Given the description of an element on the screen output the (x, y) to click on. 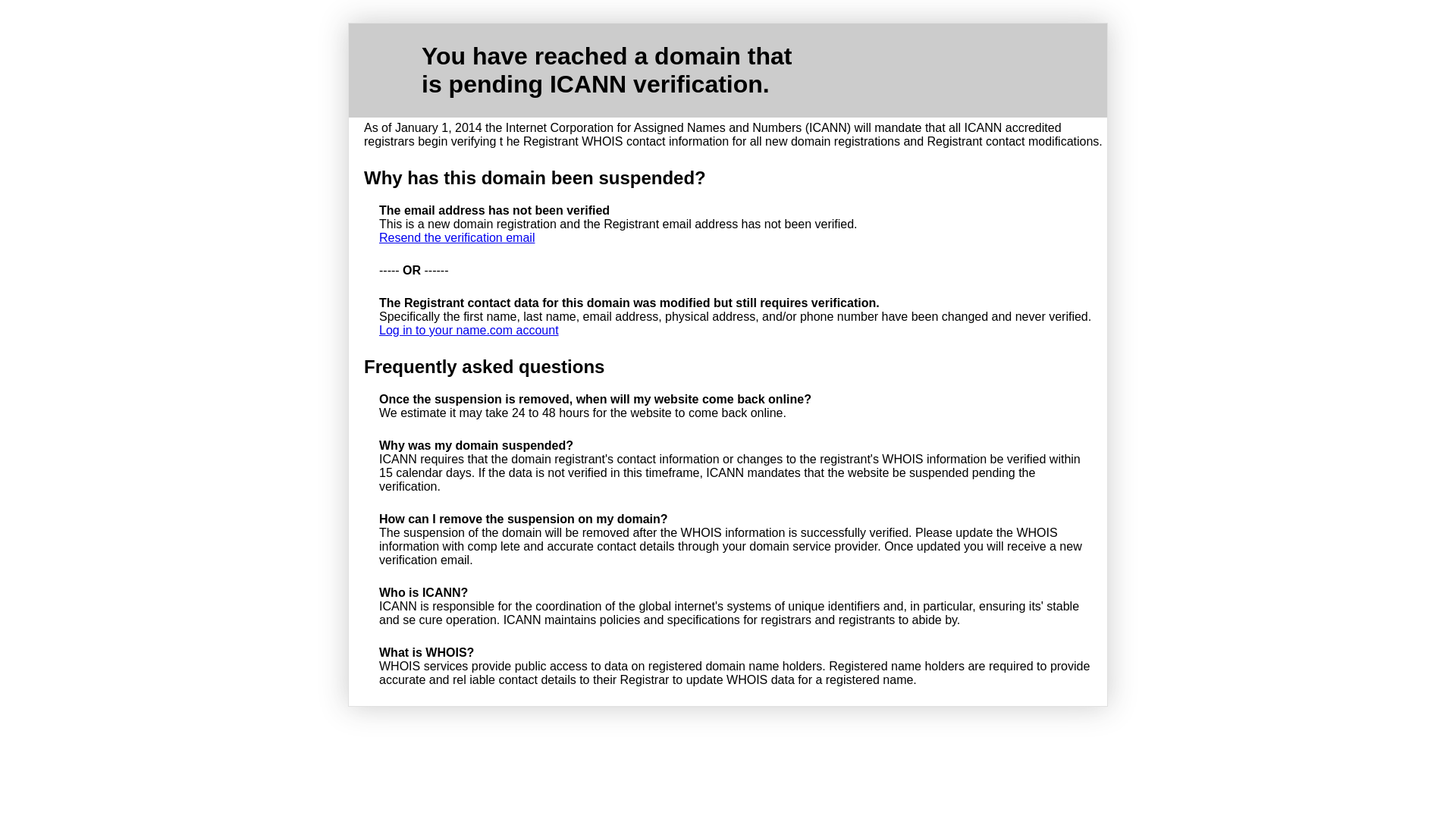
Log in to your name.com account Element type: text (468, 329)
Resend the verification email Element type: text (456, 237)
